Given the description of an element on the screen output the (x, y) to click on. 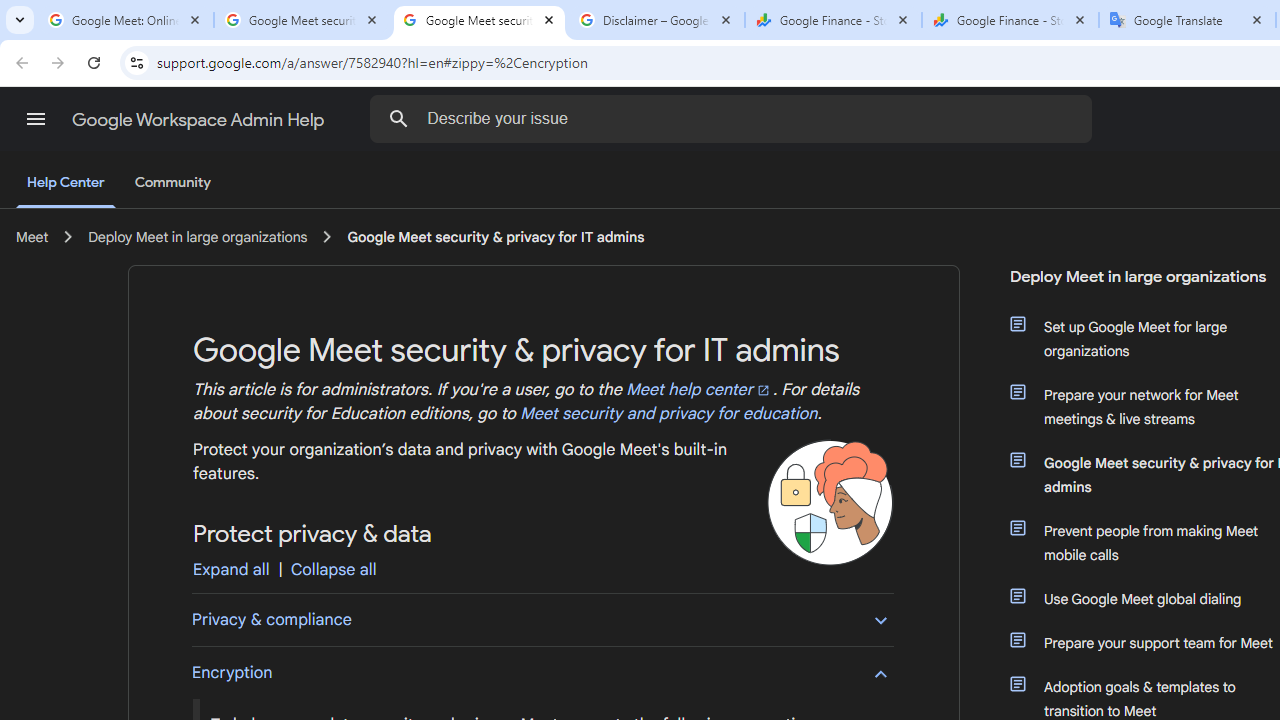
Describe your issue (735, 118)
Google Meet security & privacy for IT admins (495, 237)
Google Workspace Admin Help (199, 119)
